Given the description of an element on the screen output the (x, y) to click on. 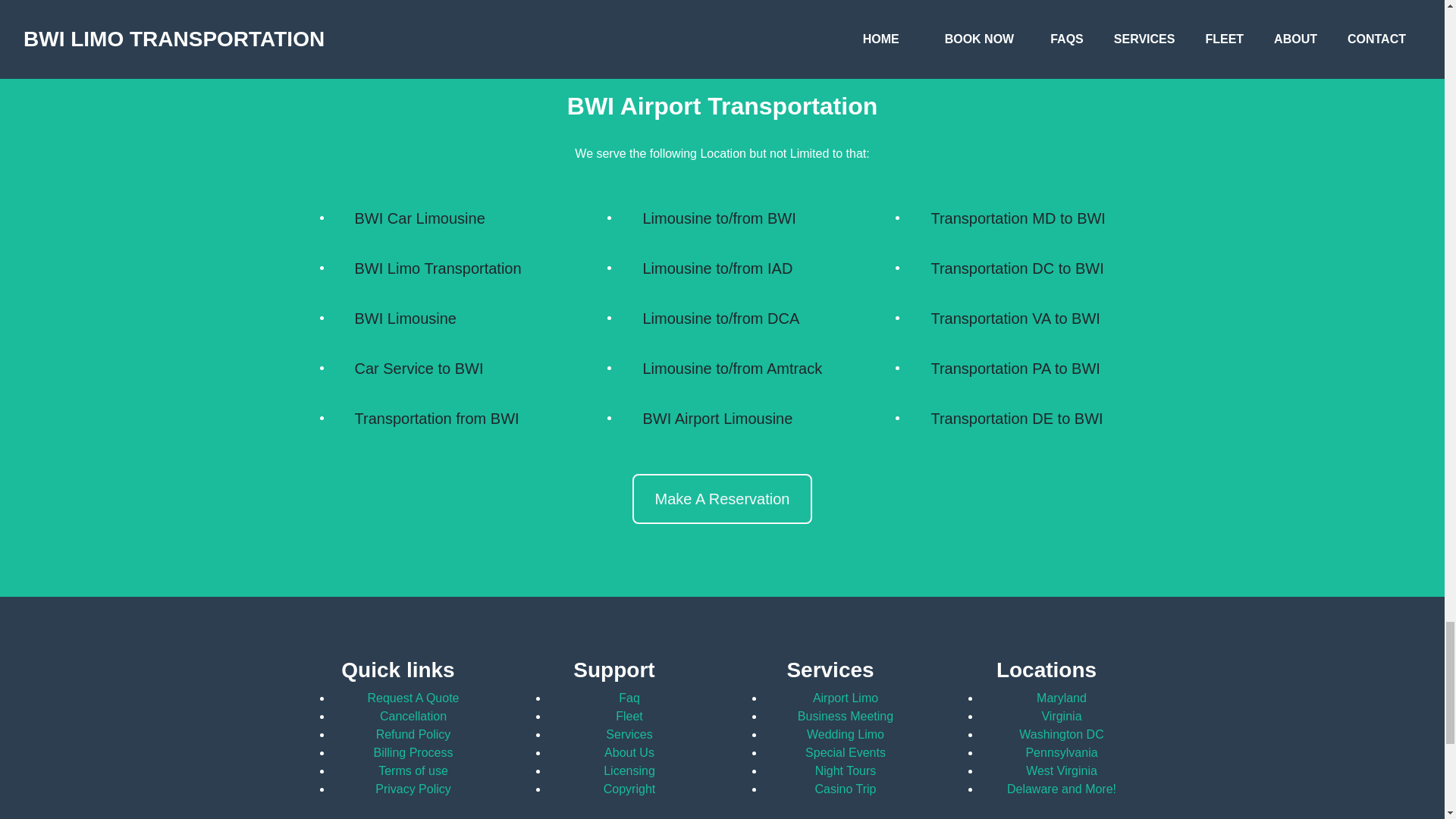
Transportation PA to BWI (1014, 368)
BWI Airport Limousine (717, 418)
Make A Reservation (721, 499)
Transportation from BWI (436, 418)
Transportation DE to BWI (1016, 418)
BWI Limousine (405, 318)
Transportation VA to BWI (1014, 318)
Transportation MD to BWI (1016, 218)
Car Service to BWI (418, 368)
BWI Car Limousine (419, 218)
Transportation DC to BWI (1016, 268)
BWI Limo Transportation (437, 268)
